Given the description of an element on the screen output the (x, y) to click on. 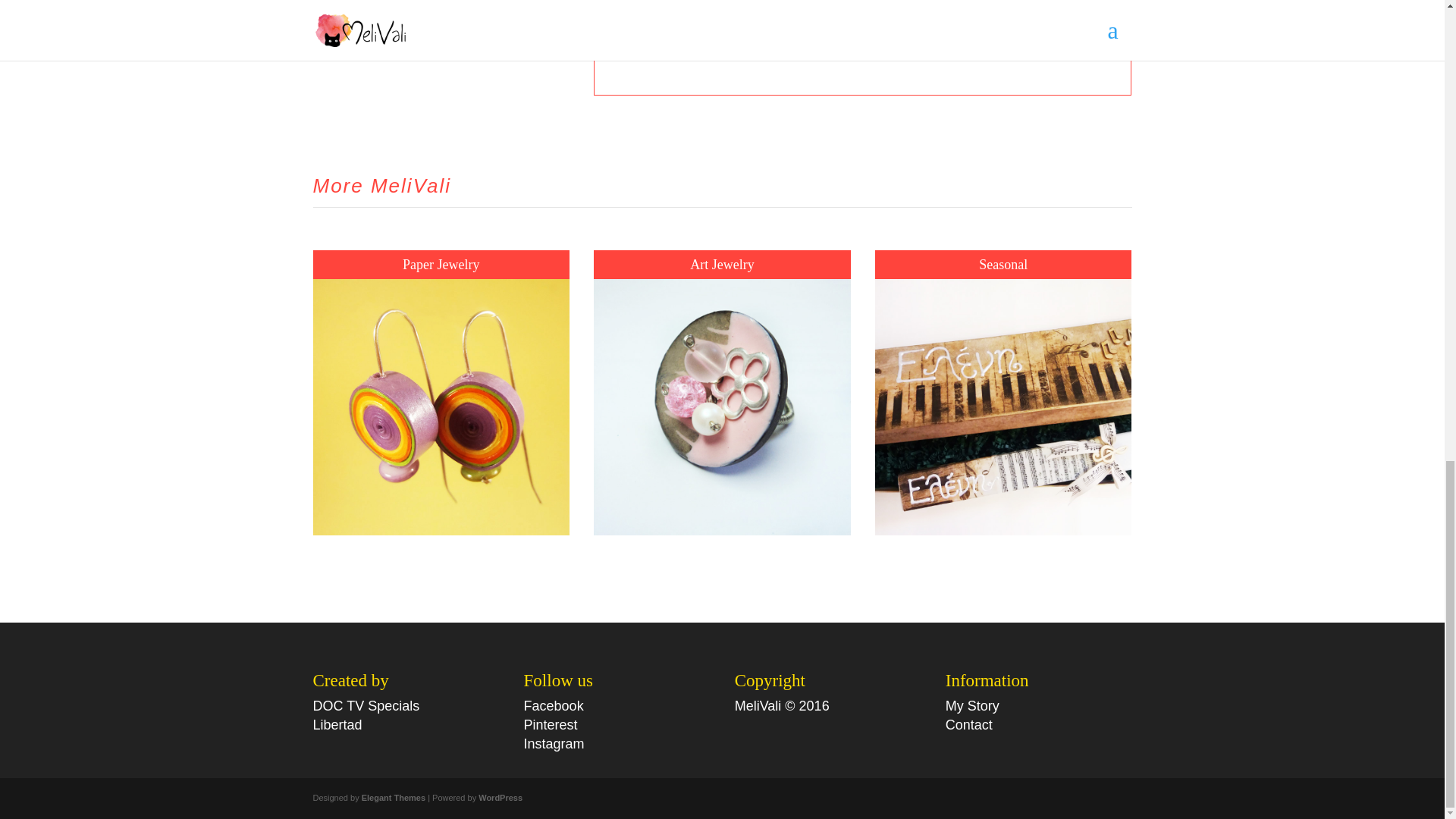
DOC TV Specials (366, 705)
Premium WordPress Themes (393, 797)
Instagram (554, 743)
Paper Jewelry (441, 264)
My Story (971, 705)
Libertad (337, 724)
Pinterest (551, 724)
Contact (968, 724)
Facebook (553, 705)
WordPress (500, 797)
Elegant Themes (393, 797)
Seasonal (1002, 264)
Art Jewelry (722, 264)
